Given the description of an element on the screen output the (x, y) to click on. 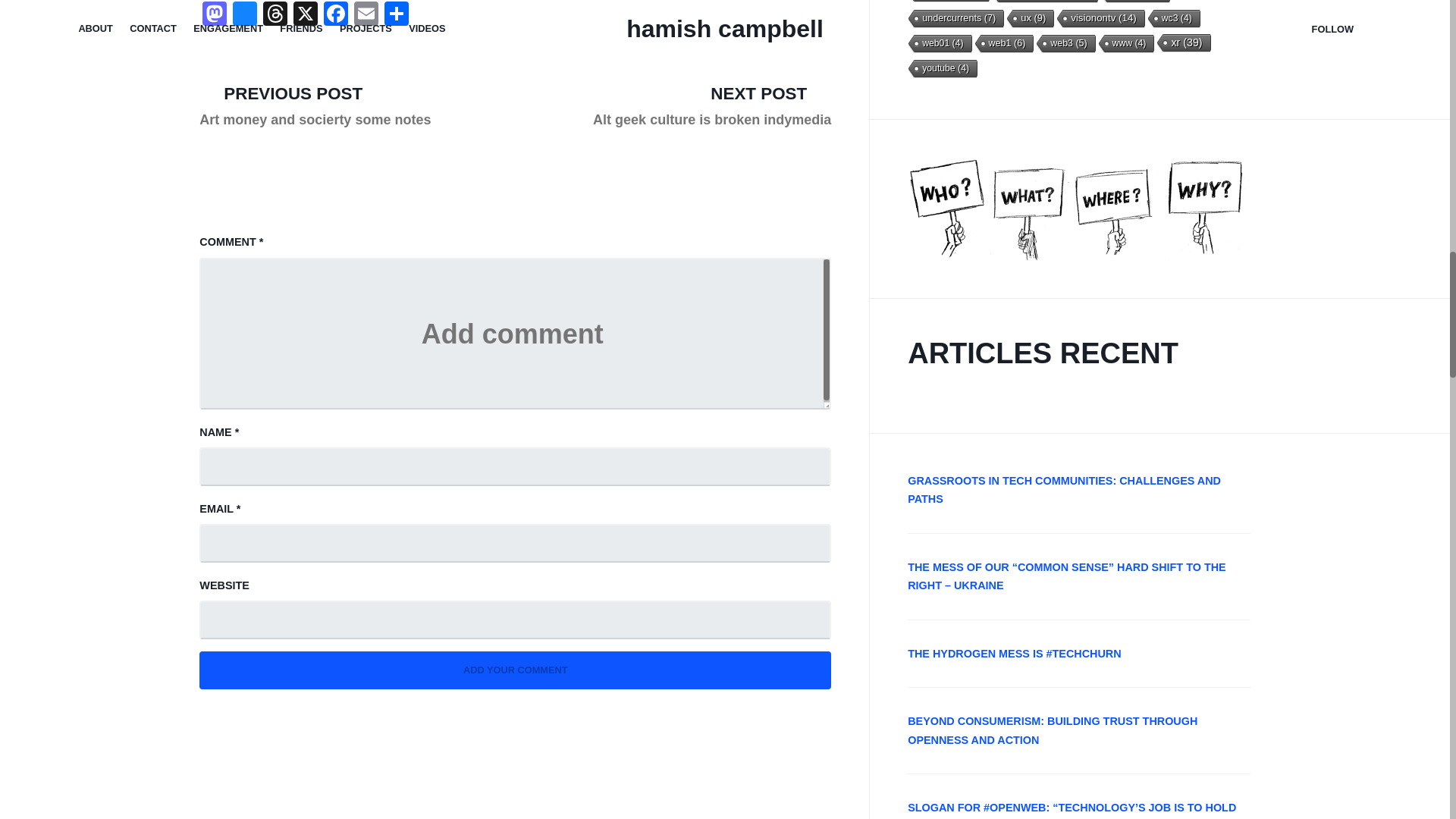
Facebook (335, 15)
X (304, 15)
Email (365, 15)
Bluesky (245, 15)
Add your comment (515, 670)
Mastodon (214, 15)
Threads (274, 15)
